Given the description of an element on the screen output the (x, y) to click on. 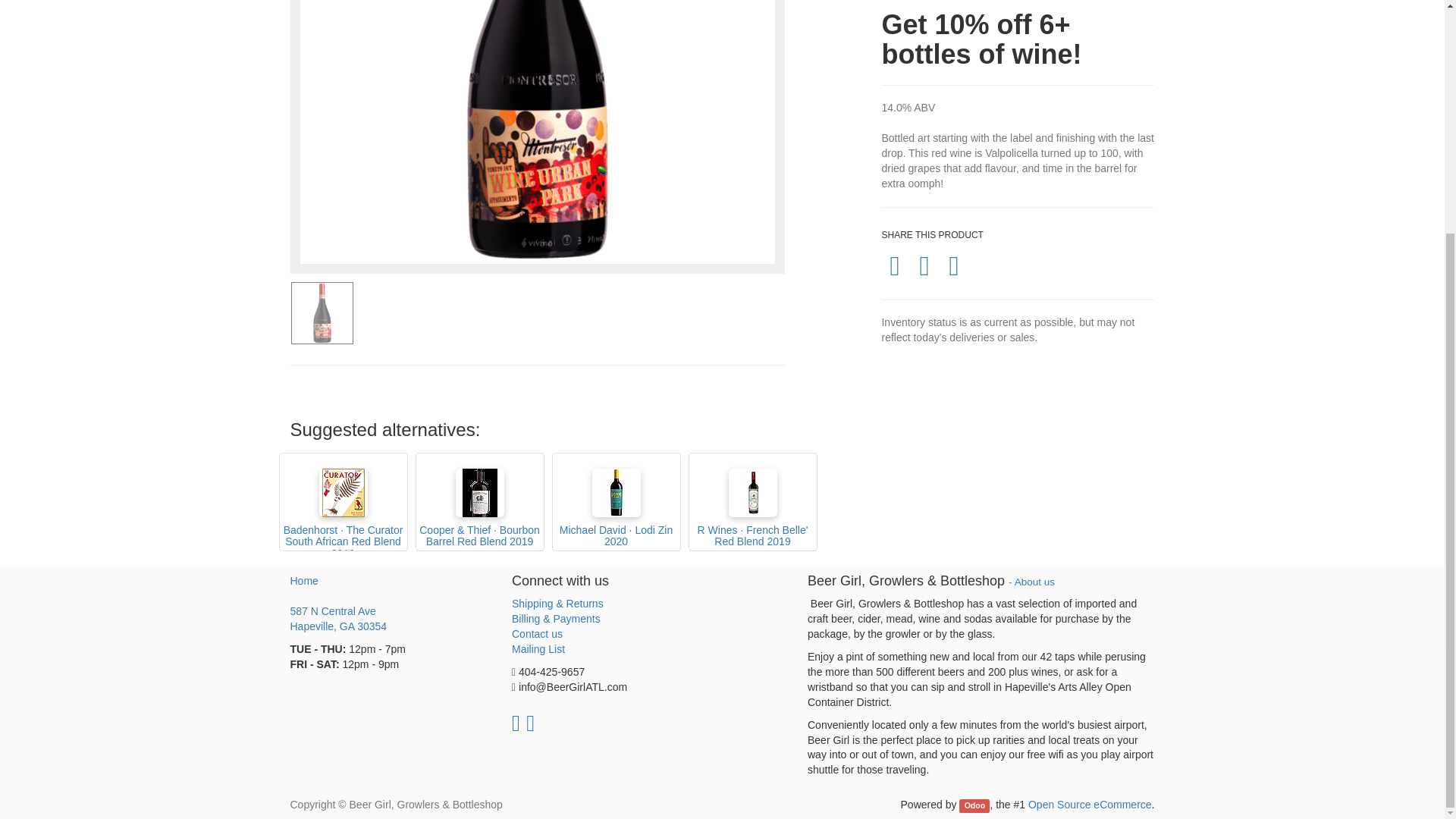
Contact us (537, 633)
Home (303, 580)
Open Source eCommerce (1089, 804)
Mailing List (538, 648)
Odoo (389, 619)
About us (974, 805)
